Given the description of an element on the screen output the (x, y) to click on. 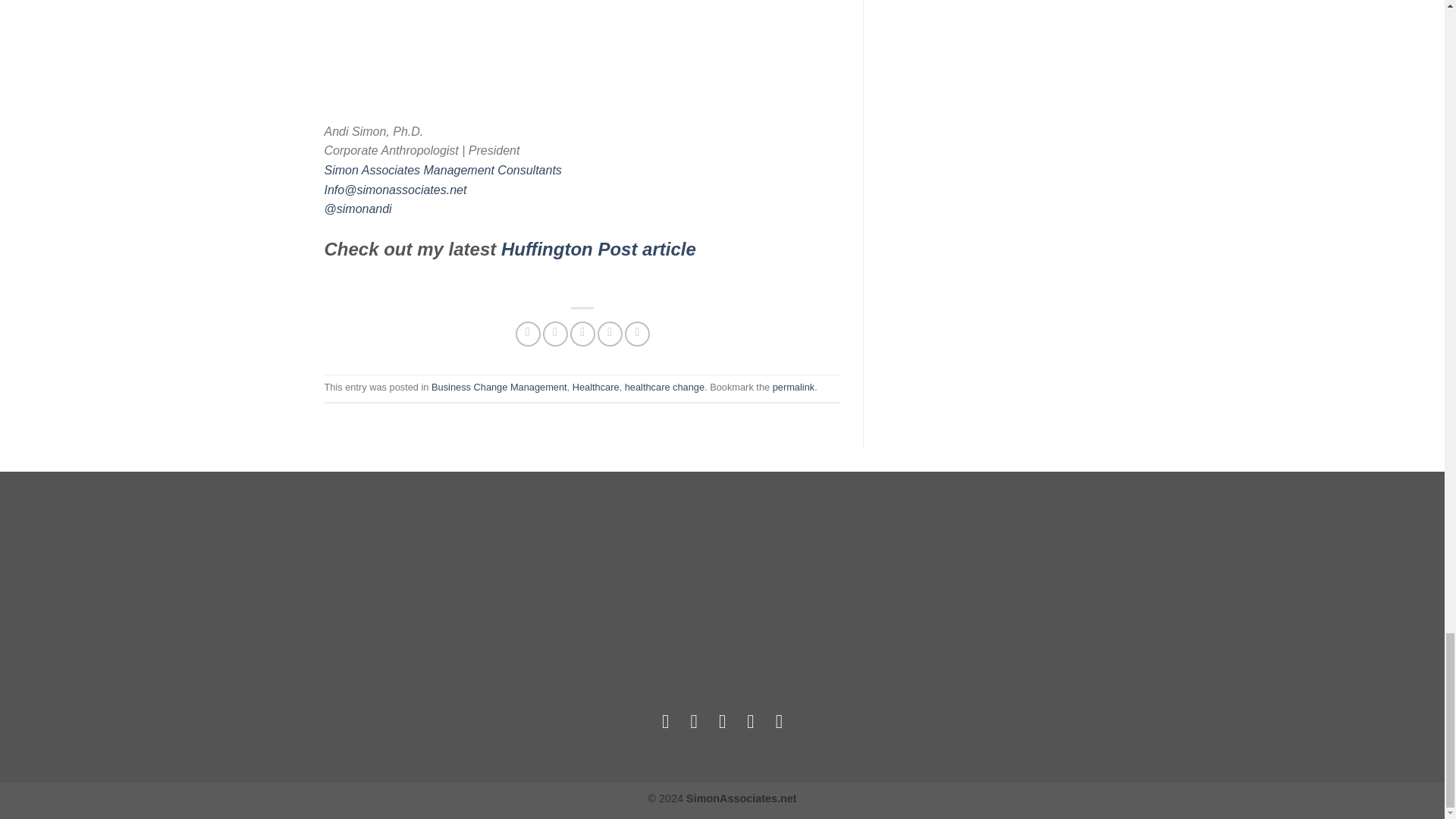
Share on Facebook (527, 333)
Email to a Friend (582, 333)
Share on LinkedIn (636, 333)
Share on Twitter (555, 333)
Pin on Pinterest (609, 333)
